Given the description of an element on the screen output the (x, y) to click on. 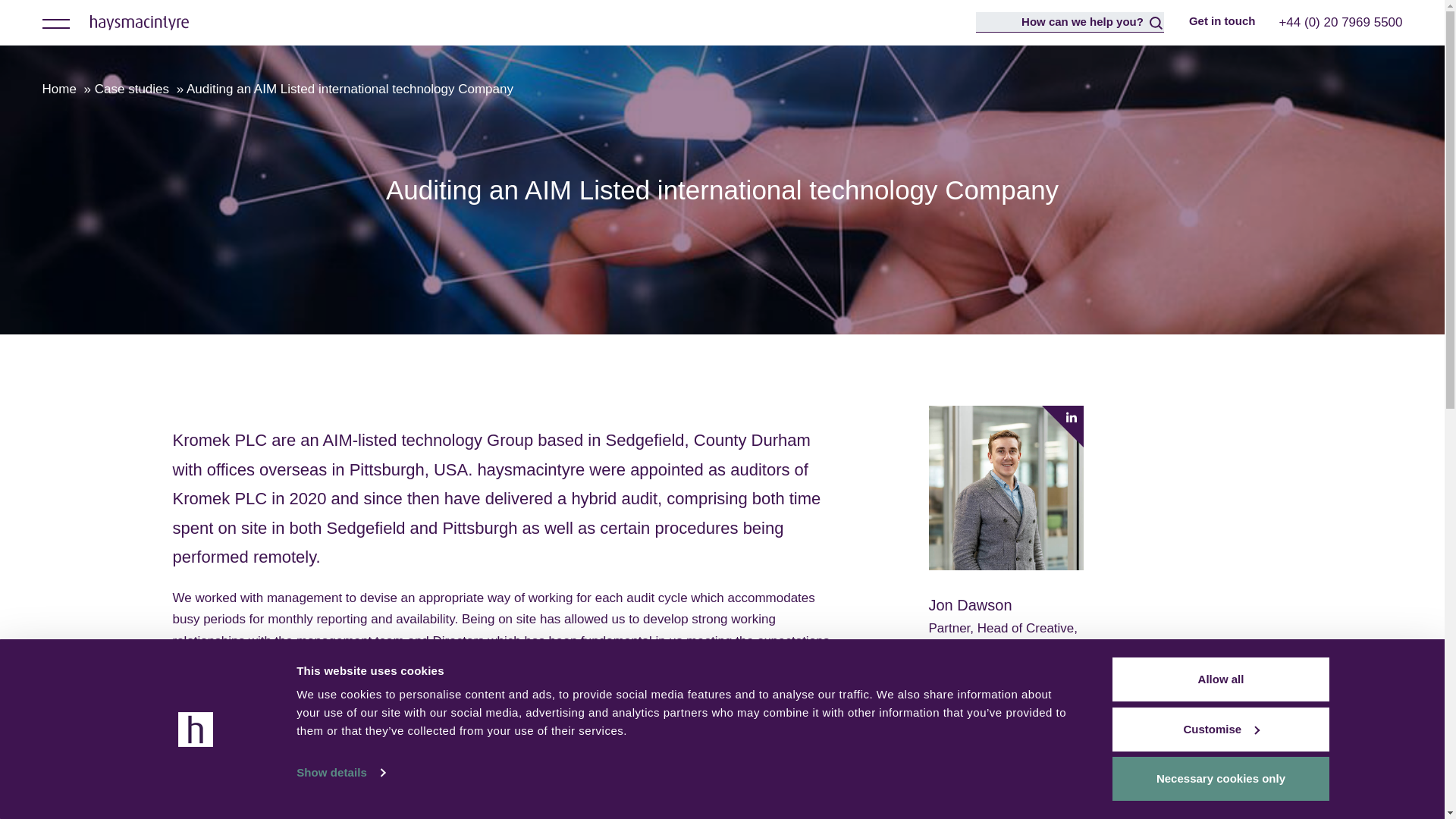
Show details (340, 772)
Necessary cookies only (1219, 778)
Customise (1219, 728)
Allow all (1219, 679)
